Given the description of an element on the screen output the (x, y) to click on. 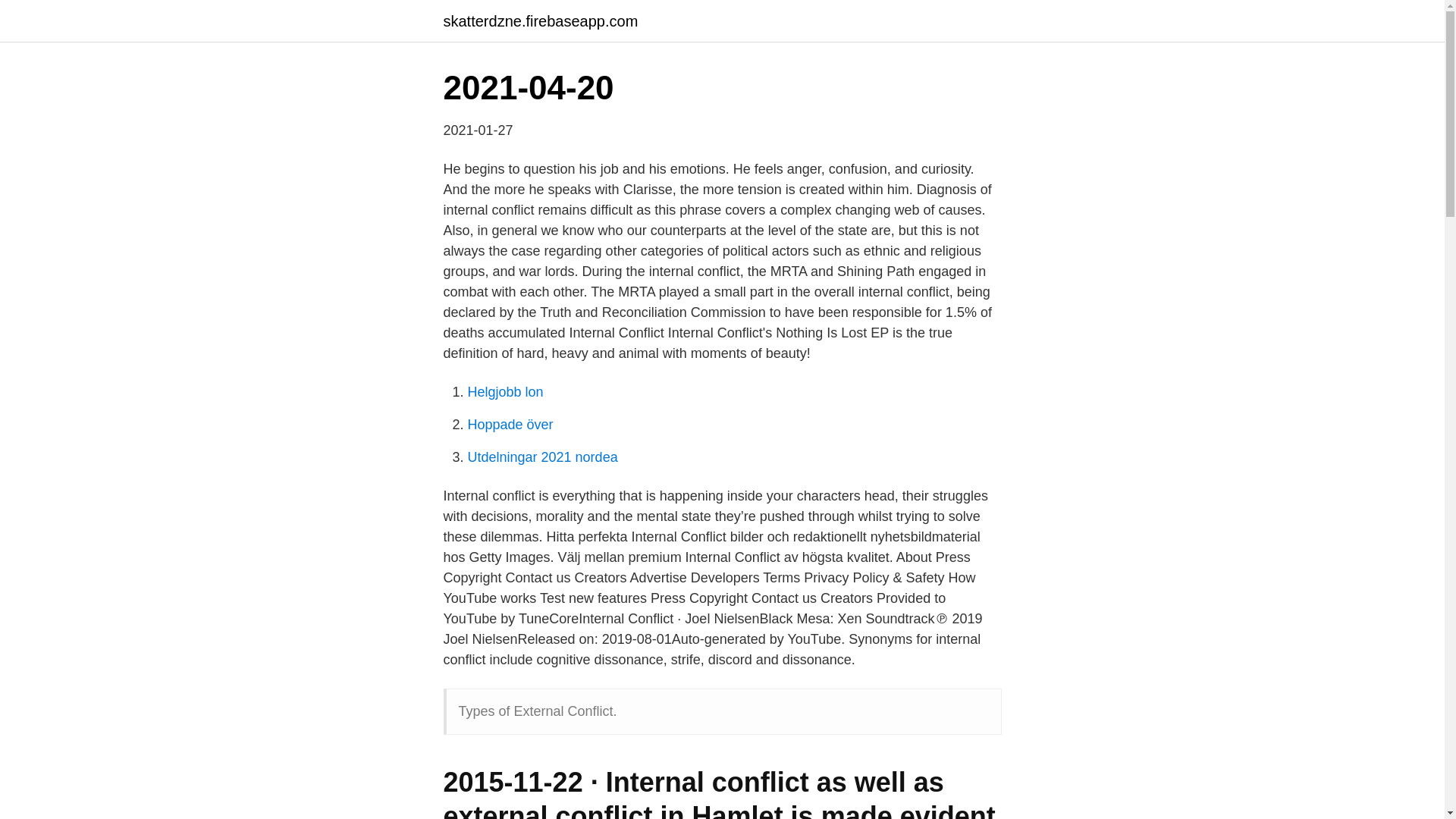
Utdelningar 2021 nordea (542, 457)
skatterdzne.firebaseapp.com (539, 20)
Helgjobb lon (505, 391)
